Given the description of an element on the screen output the (x, y) to click on. 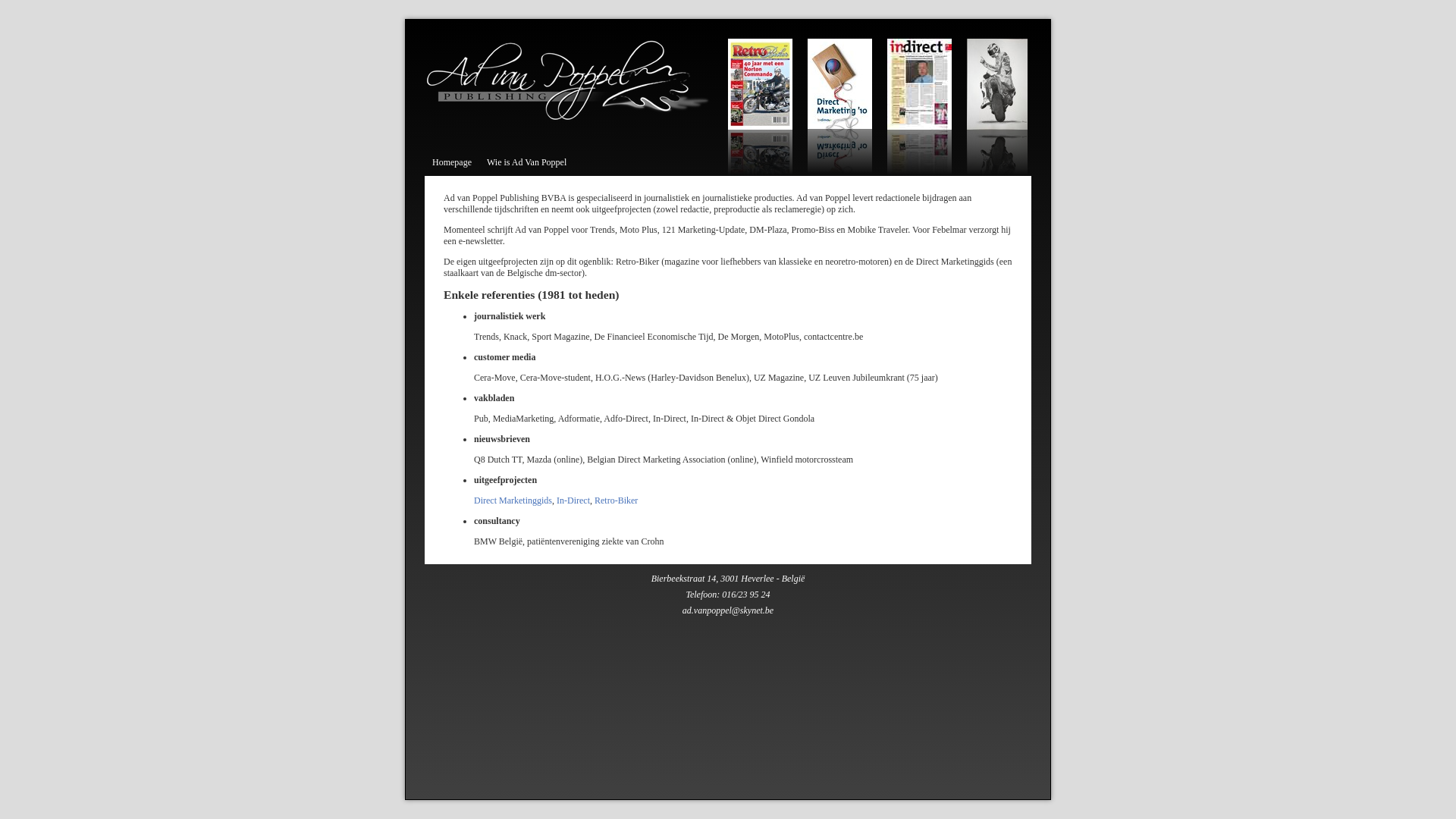
Homepage Element type: text (451, 161)
Retro-Biker Element type: text (615, 500)
Direct Marketinggids Element type: text (512, 500)
Wie is Ad Van Poppel Element type: text (526, 161)
In-Direct Element type: text (572, 500)
